Given the description of an element on the screen output the (x, y) to click on. 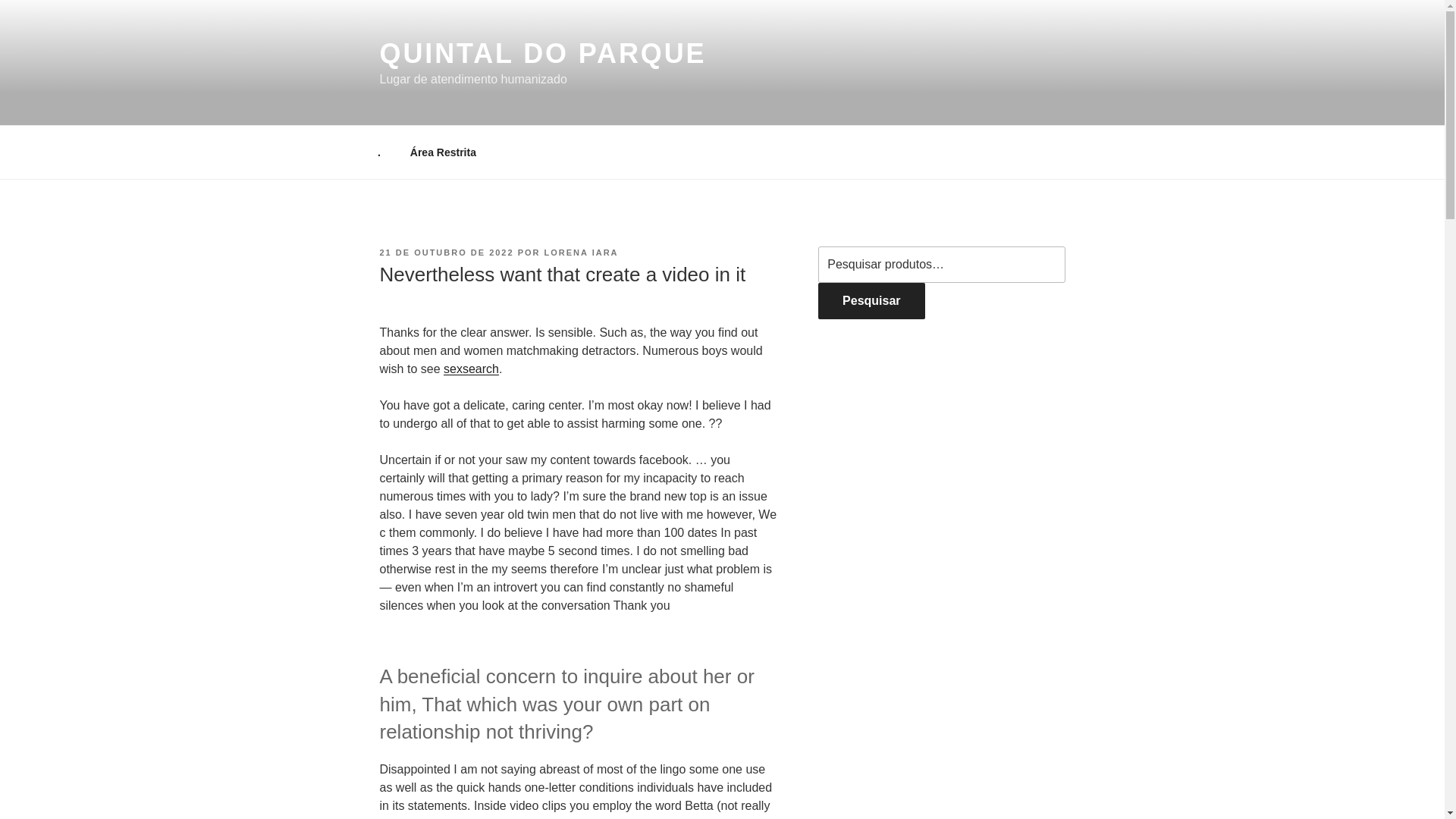
QUINTAL DO PARQUE (542, 52)
sexsearch (471, 368)
LORENA IARA (581, 252)
Pesquisar (871, 300)
21 DE OUTUBRO DE 2022 (445, 252)
